Given the description of an element on the screen output the (x, y) to click on. 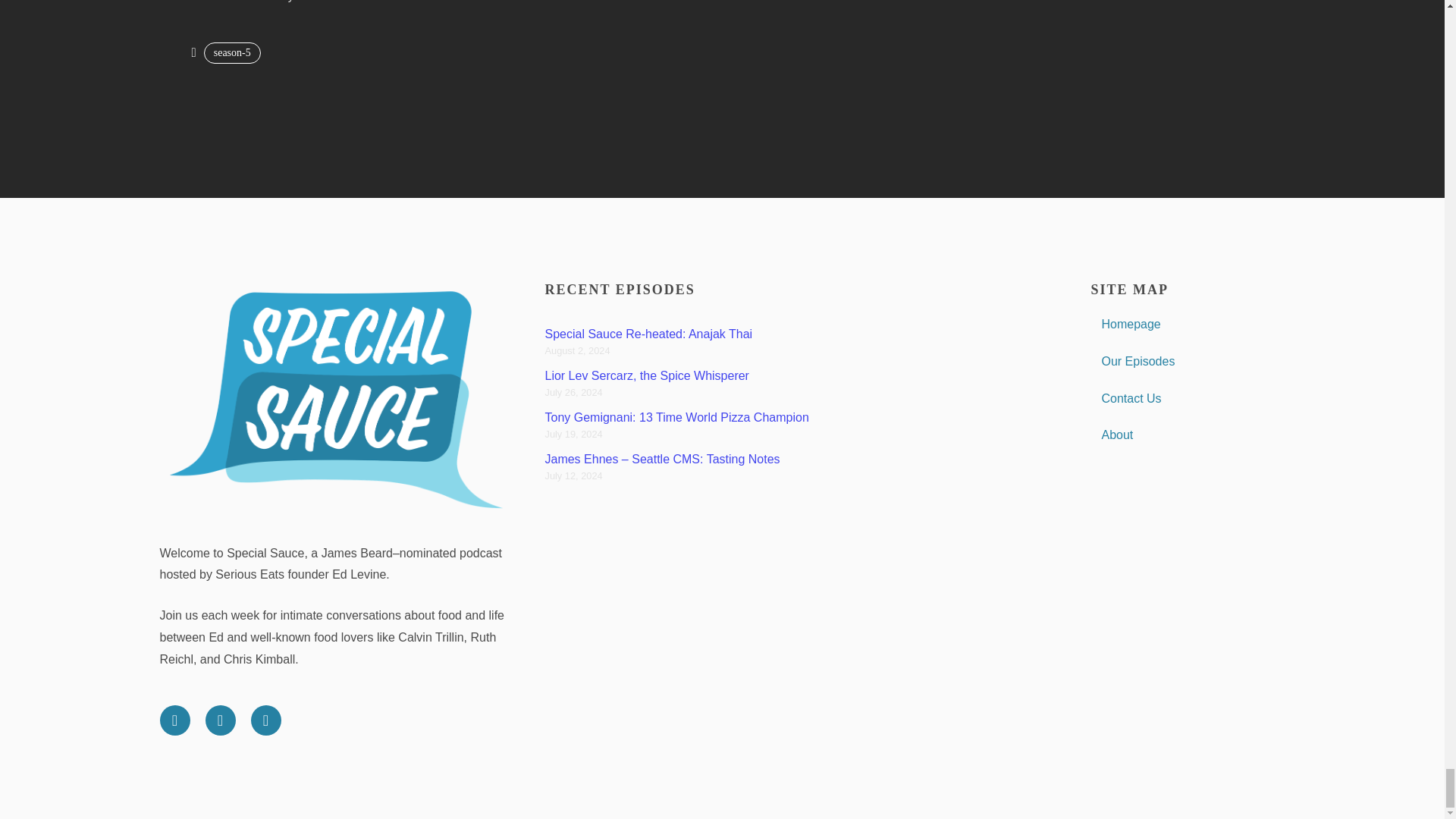
Tony Gemignani: 13 Time World Pizza Champion (676, 417)
Special Sauce Re-heated: Anajak Thai (648, 333)
Lior Lev Sercarz, the Spice Whisperer (646, 375)
season-5 (231, 52)
